Given the description of an element on the screen output the (x, y) to click on. 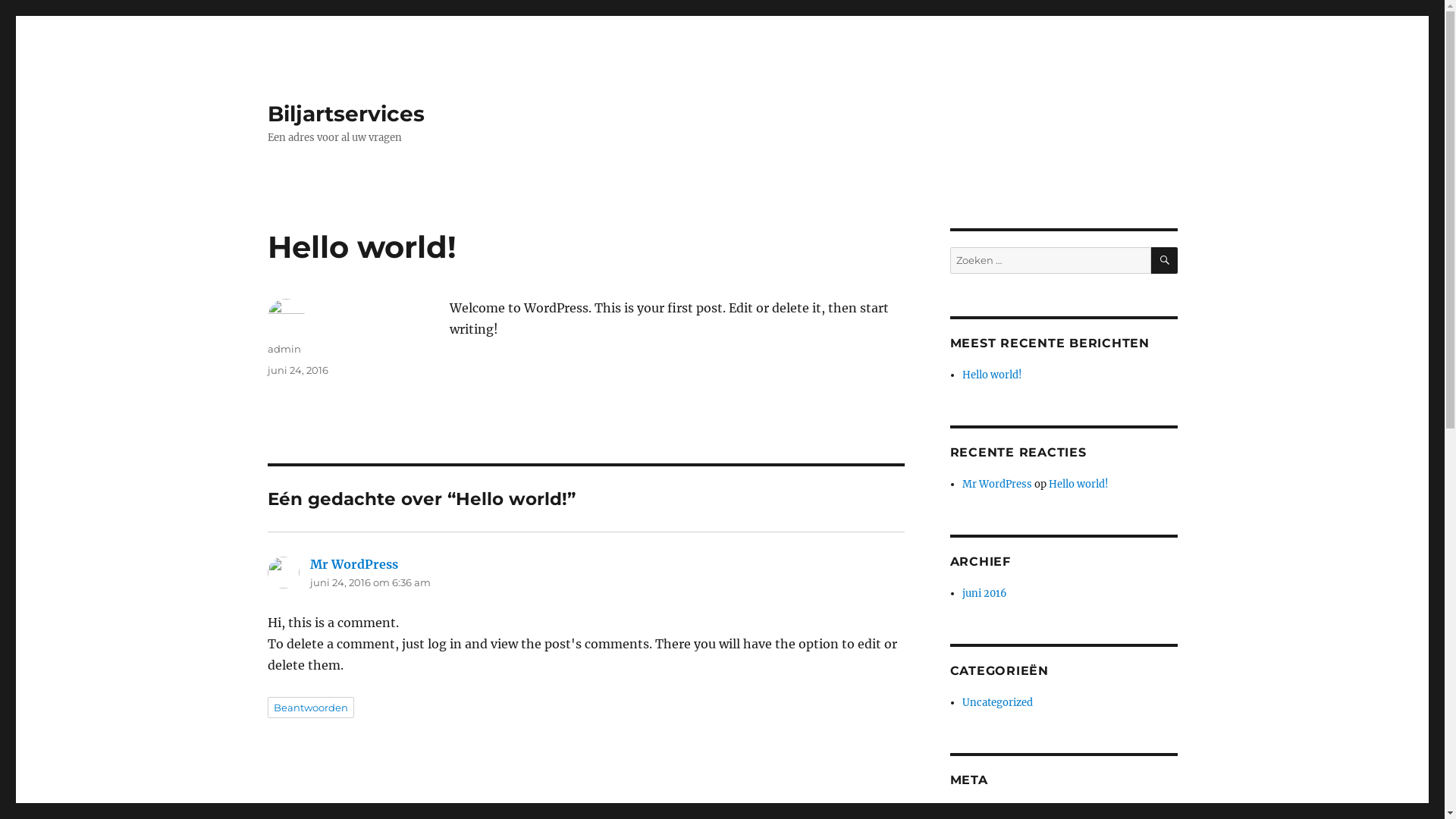
juni 24, 2016 om 6:36 am Element type: text (369, 582)
Mr WordPress Element type: text (353, 563)
Beantwoorden Element type: text (309, 707)
Hello world! Element type: text (1078, 483)
Biljartservices Element type: text (344, 113)
juni 24, 2016 Element type: text (296, 370)
ZOEKEN Element type: text (1164, 260)
juni 2016 Element type: text (984, 592)
Inloggen Element type: text (984, 811)
Mr WordPress Element type: text (997, 483)
Hello world! Element type: text (992, 374)
Uncategorized Element type: text (997, 702)
admin Element type: text (283, 348)
